Given the description of an element on the screen output the (x, y) to click on. 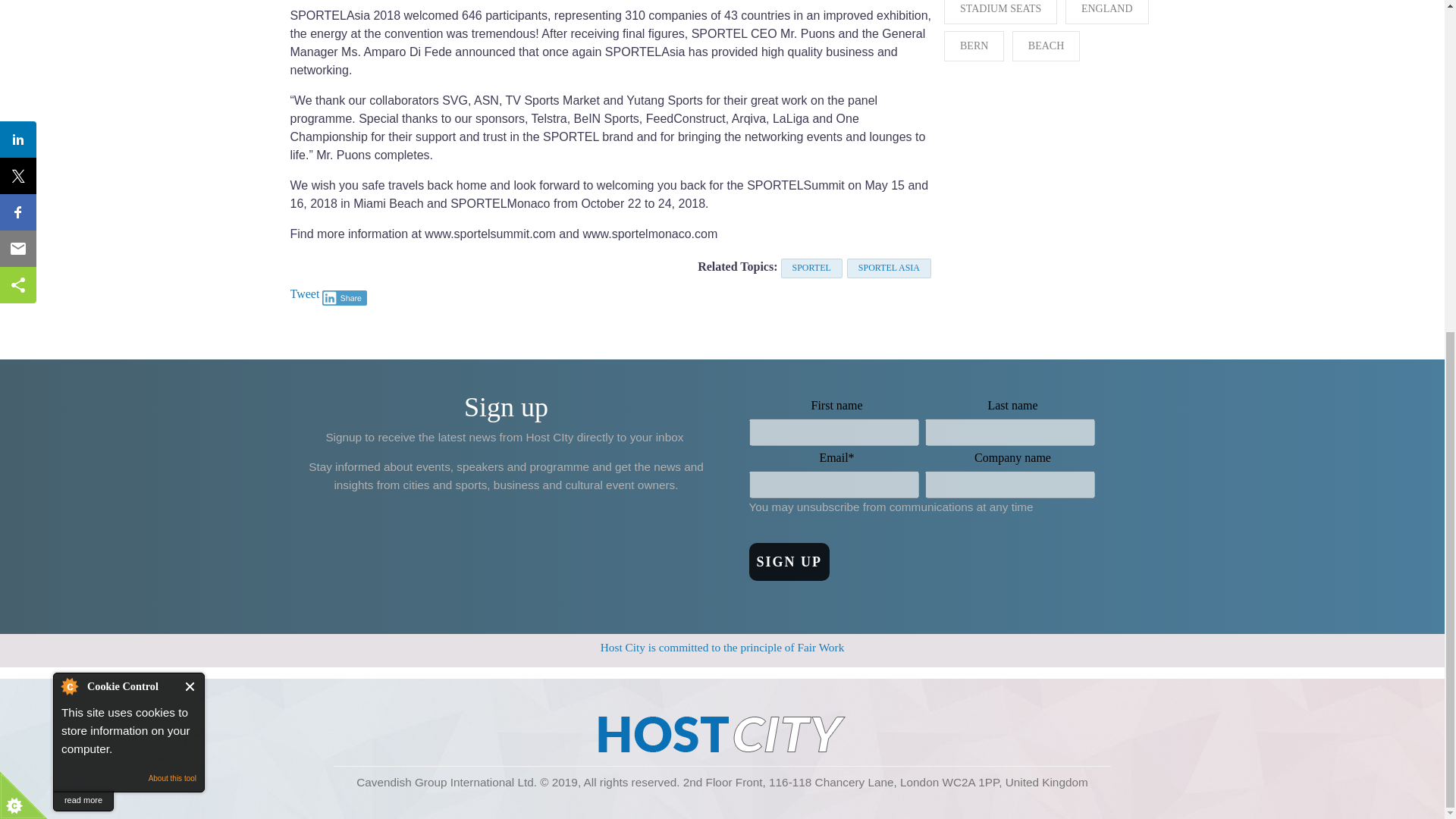
Sign Up (789, 561)
About Cookie Control (68, 133)
Close (190, 133)
read more (82, 248)
About Cookie Control (68, 133)
About this tool (172, 225)
